Given the description of an element on the screen output the (x, y) to click on. 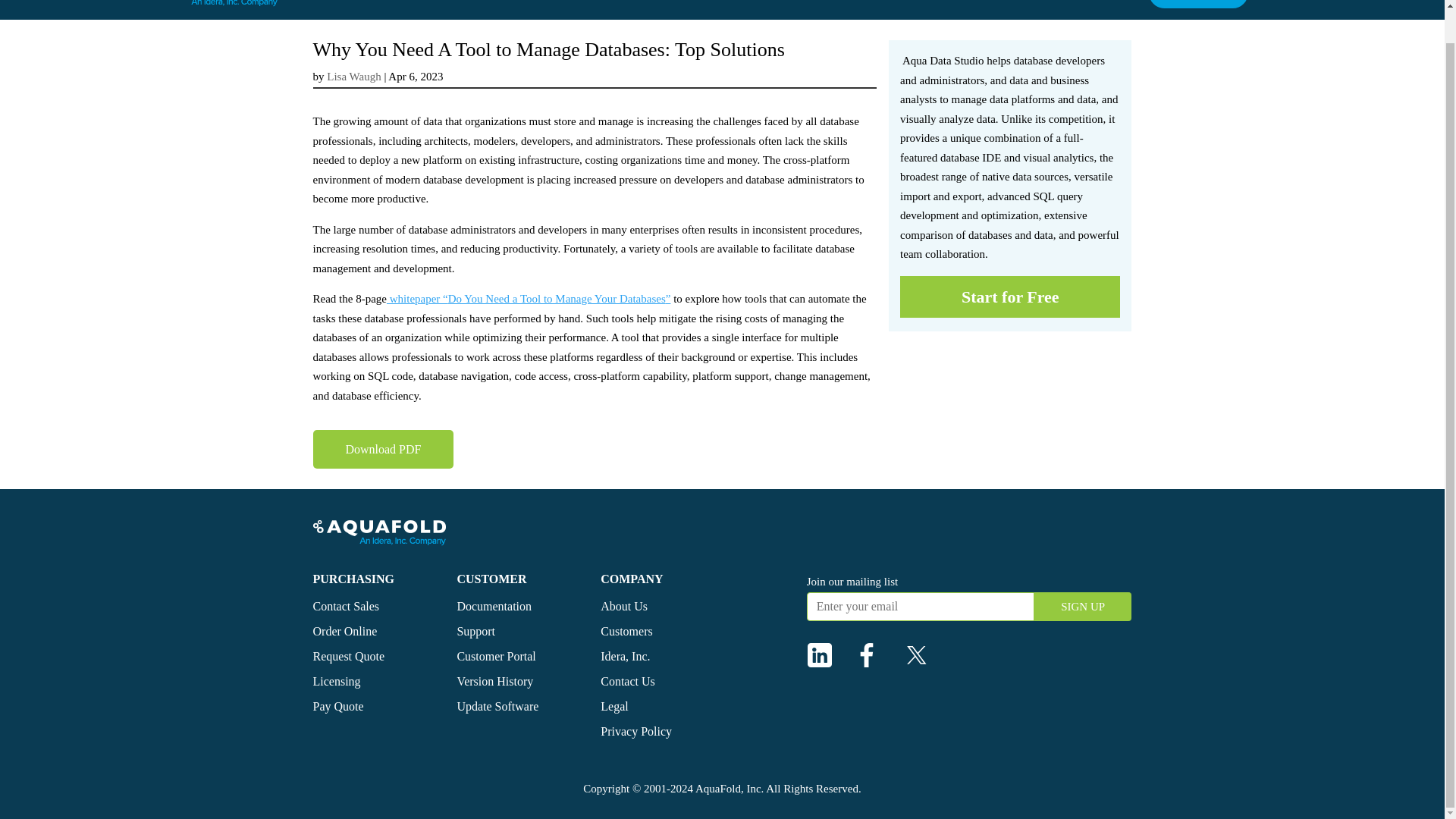
Free Trial (700, 9)
Licensing (336, 680)
Start for Free (1009, 297)
Request Quote  (350, 656)
Lisa Waugh (353, 76)
Update Software (899, 9)
Privacy Policy (635, 730)
Idera, Inc. (624, 656)
PURCHASING (353, 578)
Posts by Lisa Waugh (353, 76)
Order Online (345, 631)
aquafold-logo (379, 533)
Join our mailing list (852, 581)
Customers (625, 631)
Contact Us (627, 680)
